Given the description of an element on the screen output the (x, y) to click on. 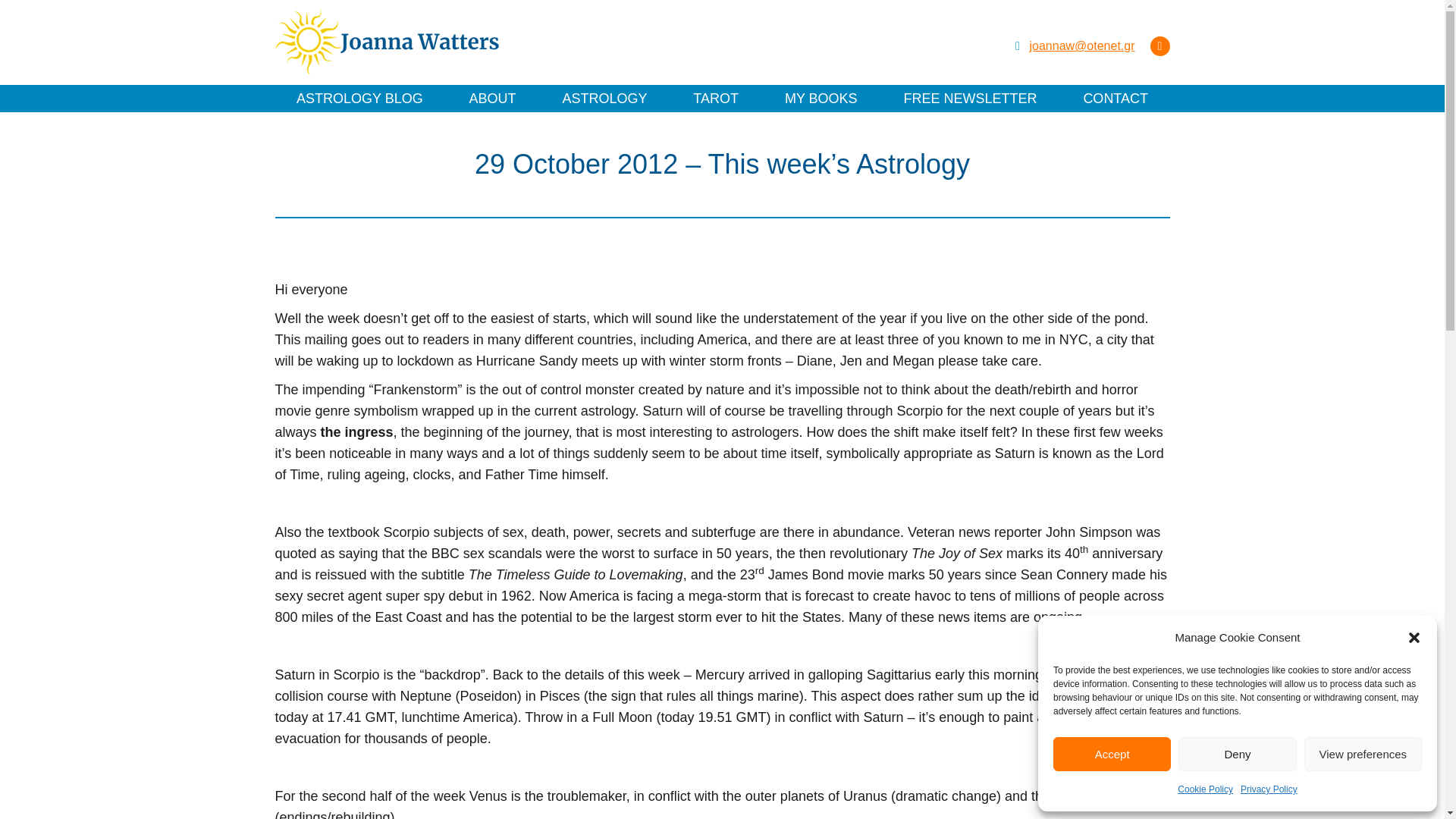
Do get in touch (1115, 98)
ABOUT (492, 98)
ASTROLOGY BLOG (360, 98)
Privacy Policy (1268, 789)
MY BOOKS (820, 98)
Cookie Policy (1205, 789)
View preferences (1363, 754)
FREE NEWSLETTER (969, 98)
Accept (1111, 754)
Weekly astrology insights and news (969, 98)
